Given the description of an element on the screen output the (x, y) to click on. 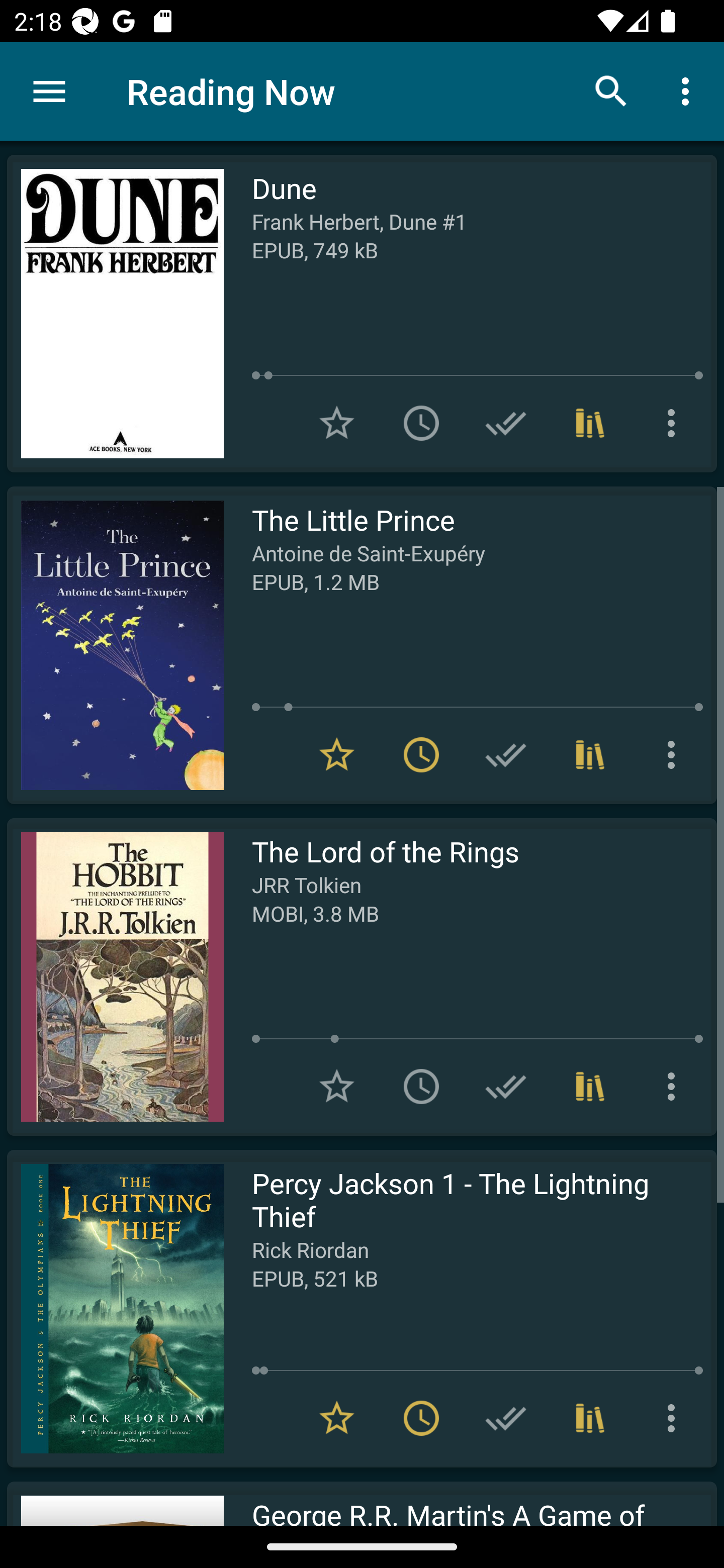
Menu (49, 91)
Search books & documents (611, 90)
More options (688, 90)
Read Dune (115, 313)
Add to Favorites (336, 423)
Add to To read (421, 423)
Add to Have read (505, 423)
Collections (1) (590, 423)
More options (674, 423)
Read The Little Prince (115, 645)
Remove from Favorites (336, 753)
Remove from To read (421, 753)
Add to Have read (505, 753)
Collections (1) (590, 753)
More options (674, 753)
Read The Lord of the Rings (115, 976)
Add to Favorites (336, 1086)
Add to To read (421, 1086)
Add to Have read (505, 1086)
Collections (1) (590, 1086)
More options (674, 1086)
Read Percy Jackson 1 - The Lightning Thief (115, 1308)
Remove from Favorites (336, 1417)
Remove from To read (421, 1417)
Add to Have read (505, 1417)
Collections (1) (590, 1417)
More options (674, 1417)
